Given the description of an element on the screen output the (x, y) to click on. 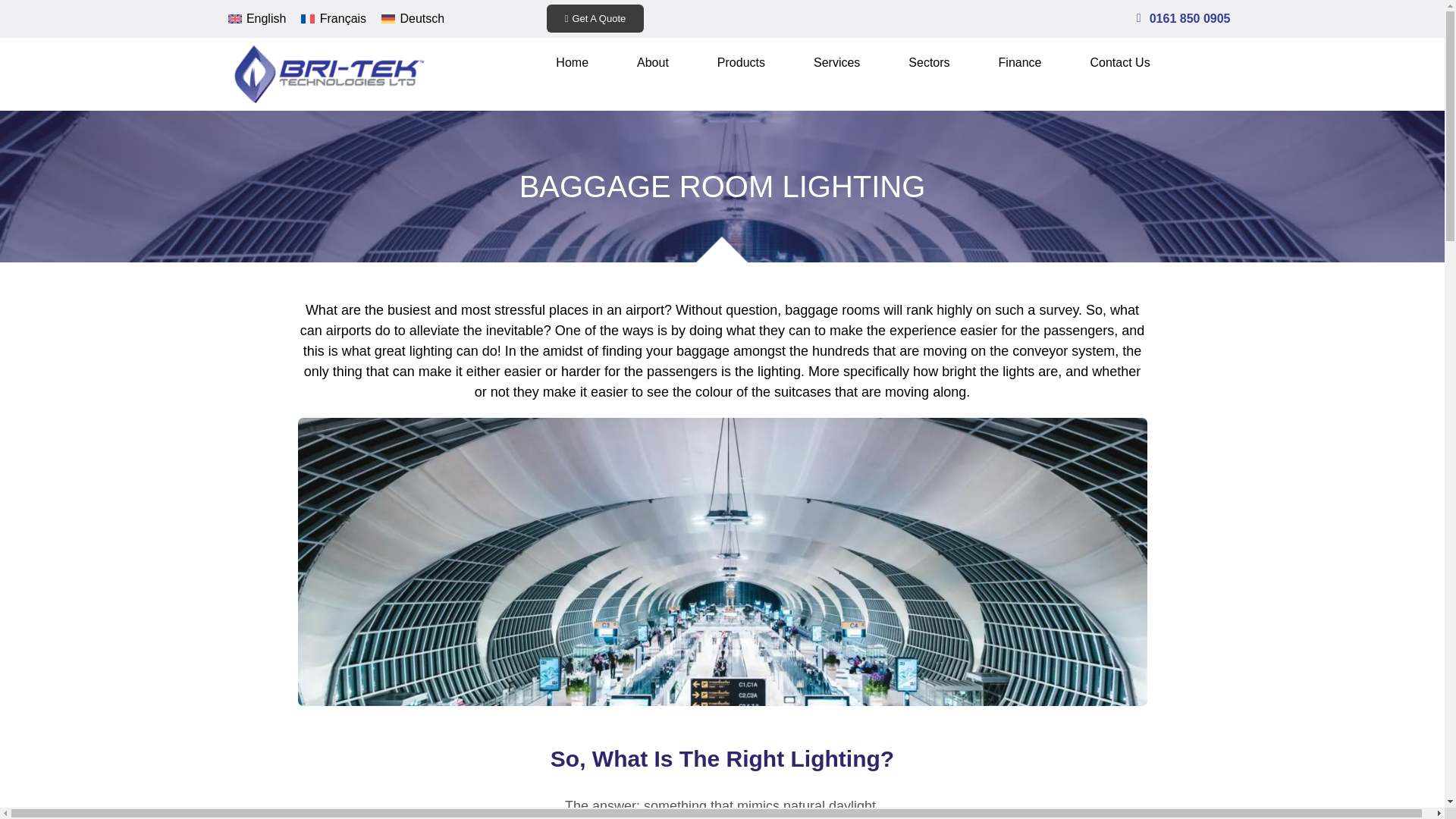
About (652, 62)
Deutsch (412, 18)
0161 850 0905 (1190, 18)
Products (741, 62)
Home (572, 62)
English (256, 18)
Get A Quote (596, 18)
